Given the description of an element on the screen output the (x, y) to click on. 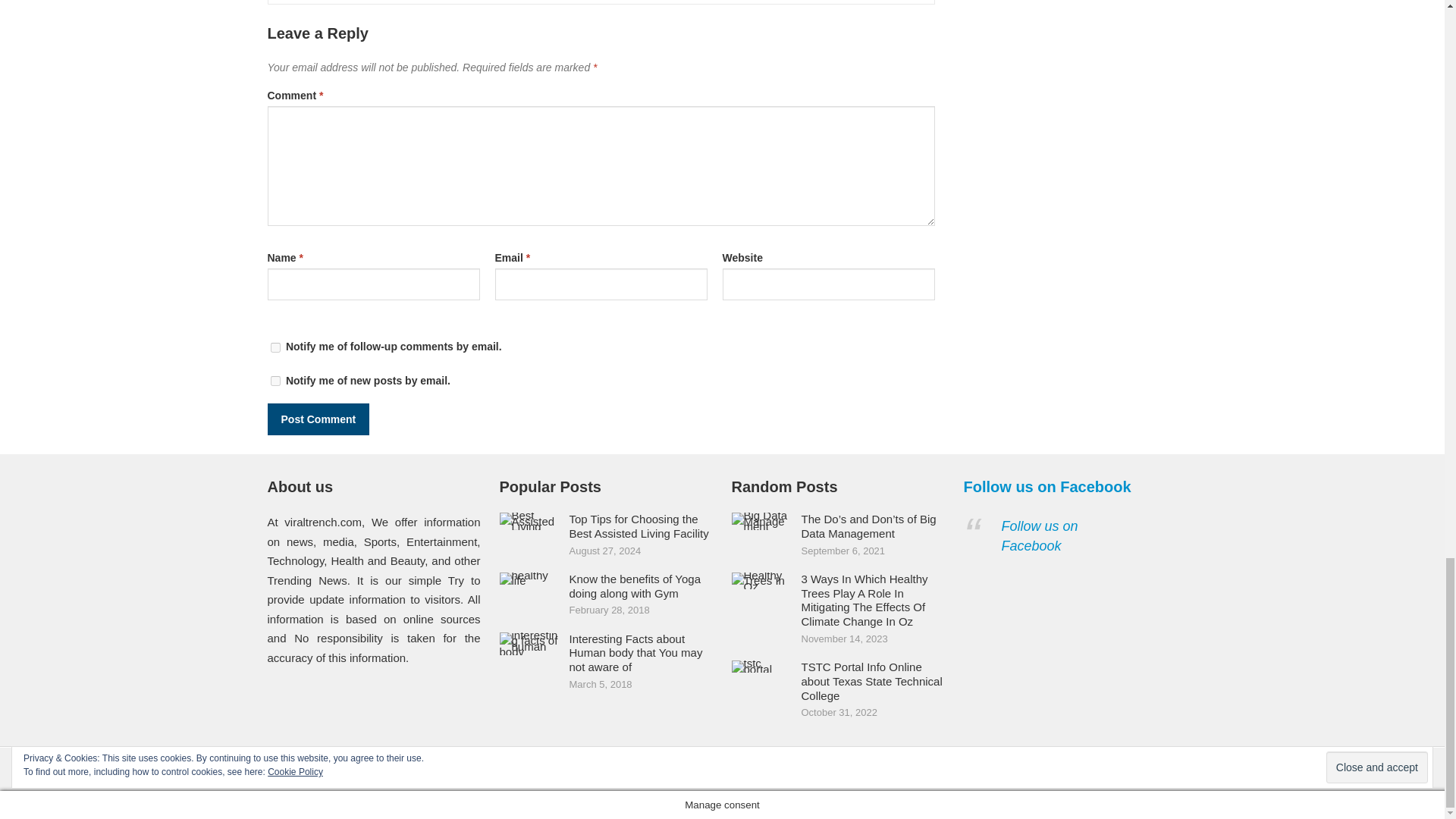
subscribe (274, 347)
Post Comment (317, 418)
subscribe (274, 380)
